Given the description of an element on the screen output the (x, y) to click on. 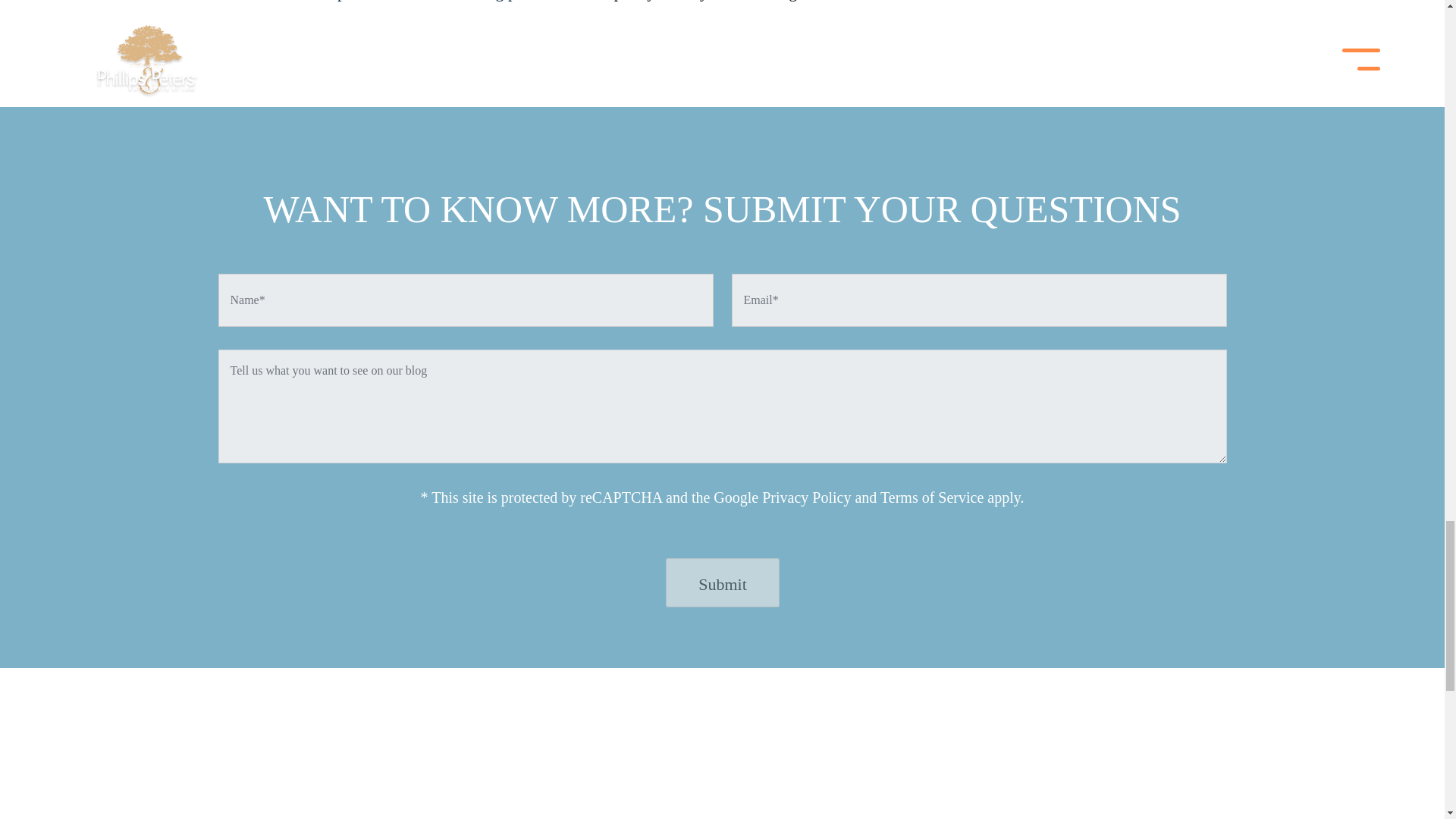
Privacy Policy (805, 497)
Terms of Service (932, 497)
Submit (721, 582)
Submit (721, 582)
